Given the description of an element on the screen output the (x, y) to click on. 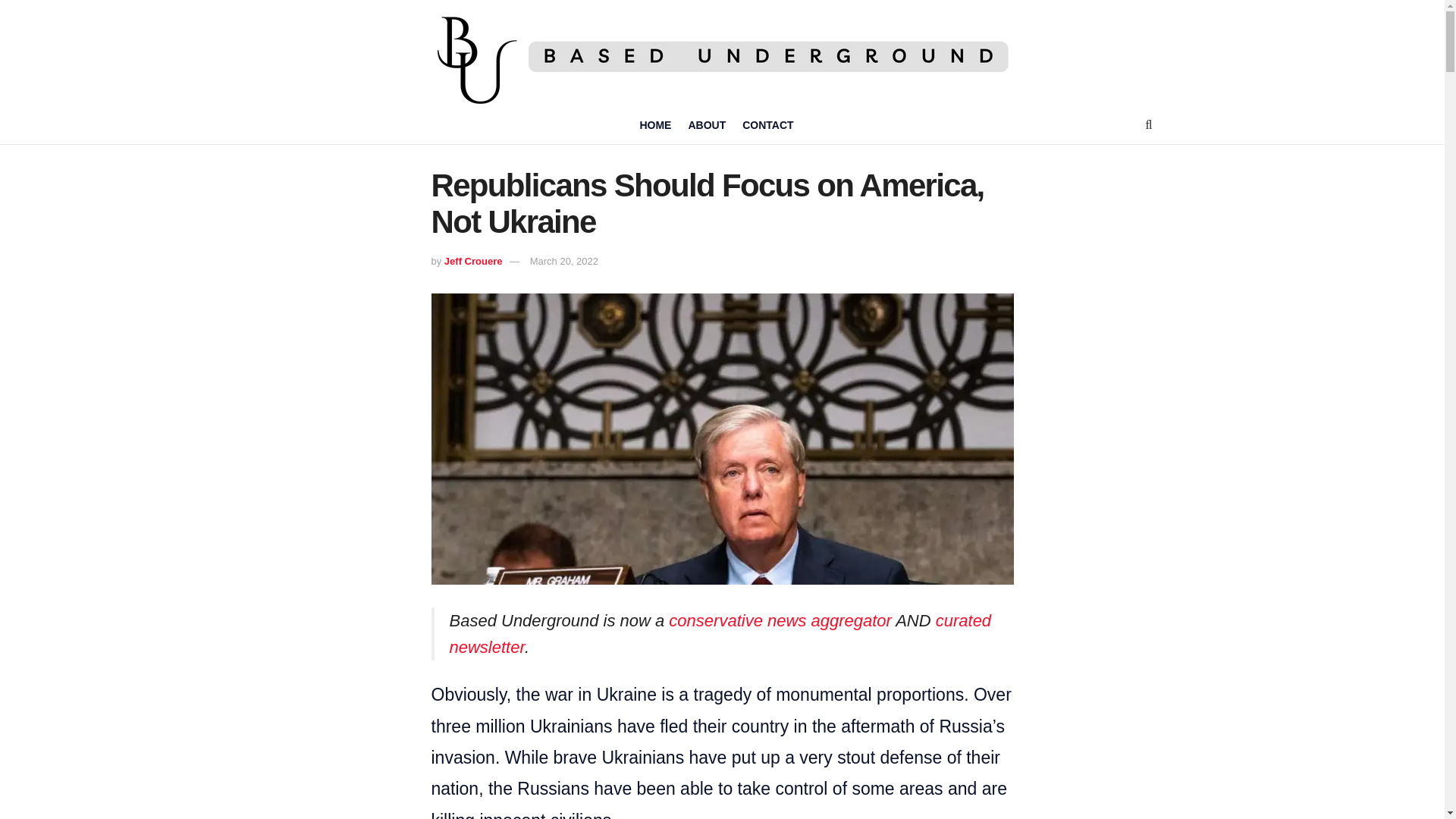
conservative news aggregator (779, 619)
CONTACT (767, 125)
ABOUT (706, 125)
curated newsletter (719, 633)
March 20, 2022 (563, 260)
Jeff Crouere (473, 260)
